Given the description of an element on the screen output the (x, y) to click on. 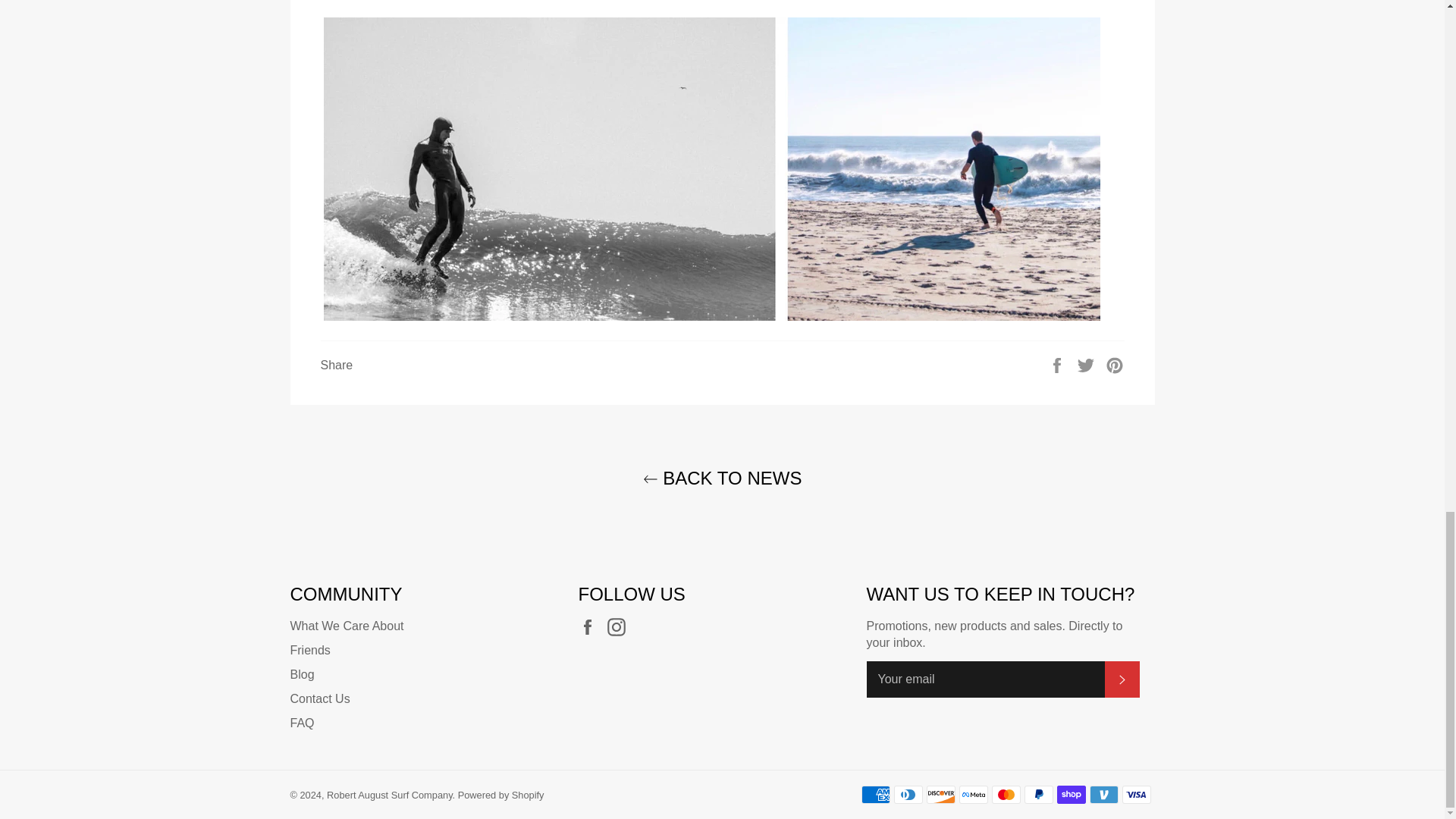
Robert August Surf Company on Facebook (591, 627)
What We Care About (346, 625)
Share on Facebook (1058, 364)
Tweet on Twitter (1087, 364)
Blog (301, 674)
Tweet on Twitter (1087, 364)
Contact Us (319, 698)
BACK TO NEWS (721, 478)
Share on Facebook (1058, 364)
FAQ (301, 722)
